Given the description of an element on the screen output the (x, y) to click on. 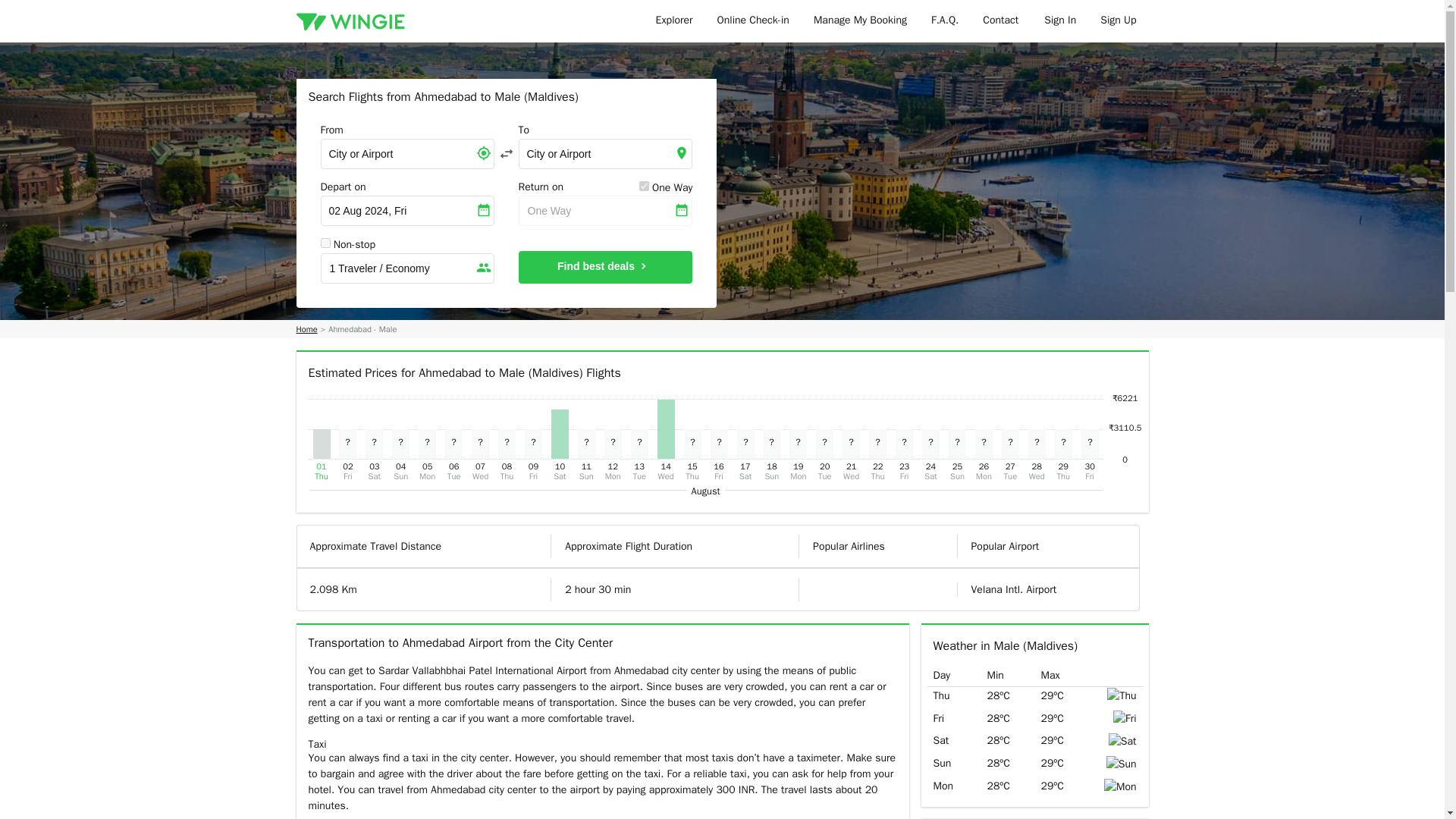
Contact (1000, 21)
Find best deals (605, 266)
Sign Up (1117, 21)
Sign In (1059, 21)
F.A.Q. (944, 21)
Manage My Booking (860, 21)
02 Aug 2024, Fri (406, 210)
Online Check-in (753, 21)
One Way (605, 210)
Explorer (673, 21)
Home (306, 328)
on (644, 185)
false (325, 243)
Home (306, 328)
